Given the description of an element on the screen output the (x, y) to click on. 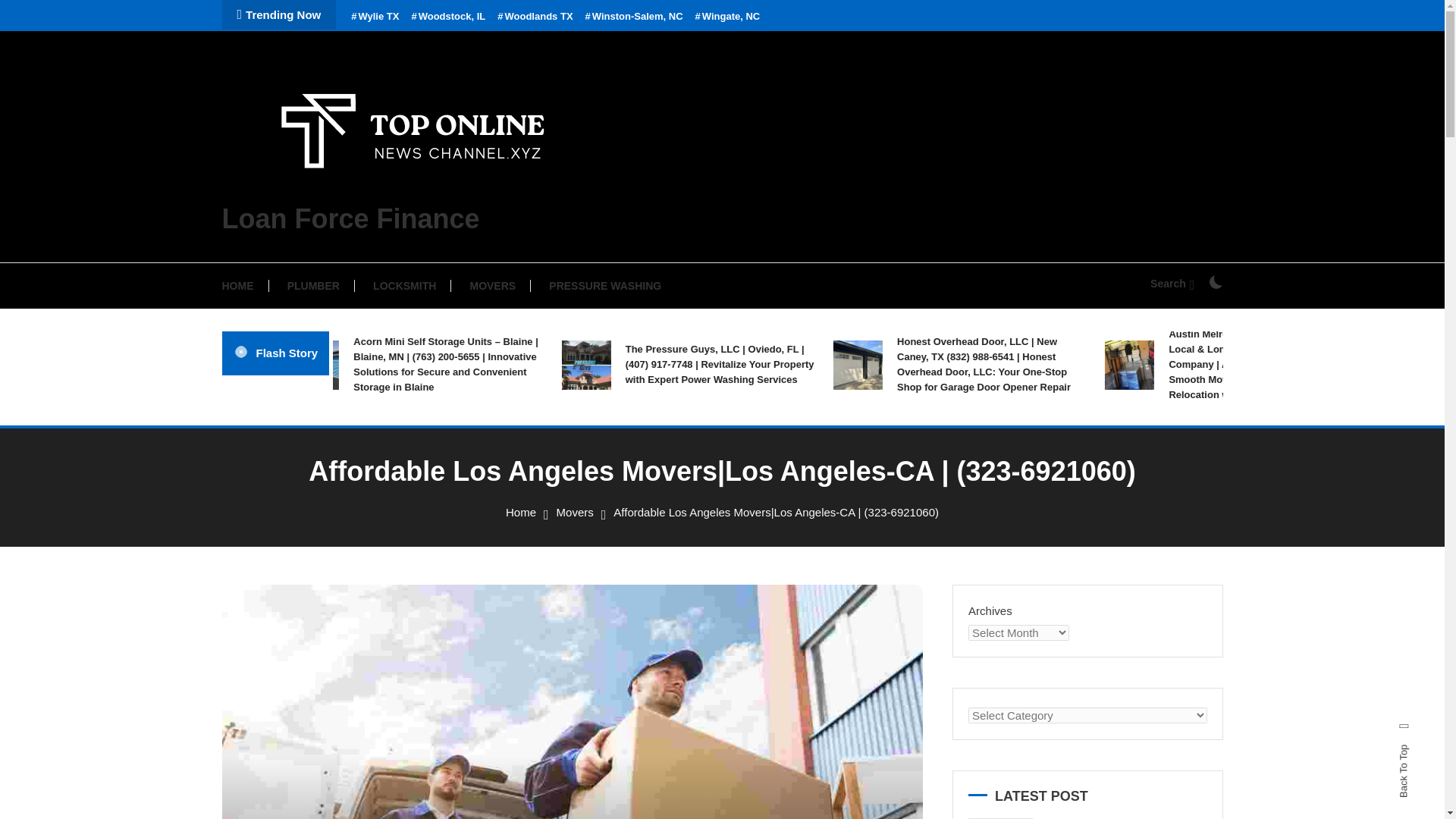
Woodstock, IL (447, 16)
HOME (244, 285)
Woodlands TX (534, 16)
Loan Force Finance (350, 218)
Home (520, 512)
LOCKSMITH (404, 285)
Search (1171, 283)
on (1215, 282)
Wylie TX (374, 16)
Search (768, 434)
Movers (575, 512)
Wingate, NC (727, 16)
MOVERS (492, 285)
PRESSURE WASHING (605, 285)
PLUMBER (313, 285)
